Given the description of an element on the screen output the (x, y) to click on. 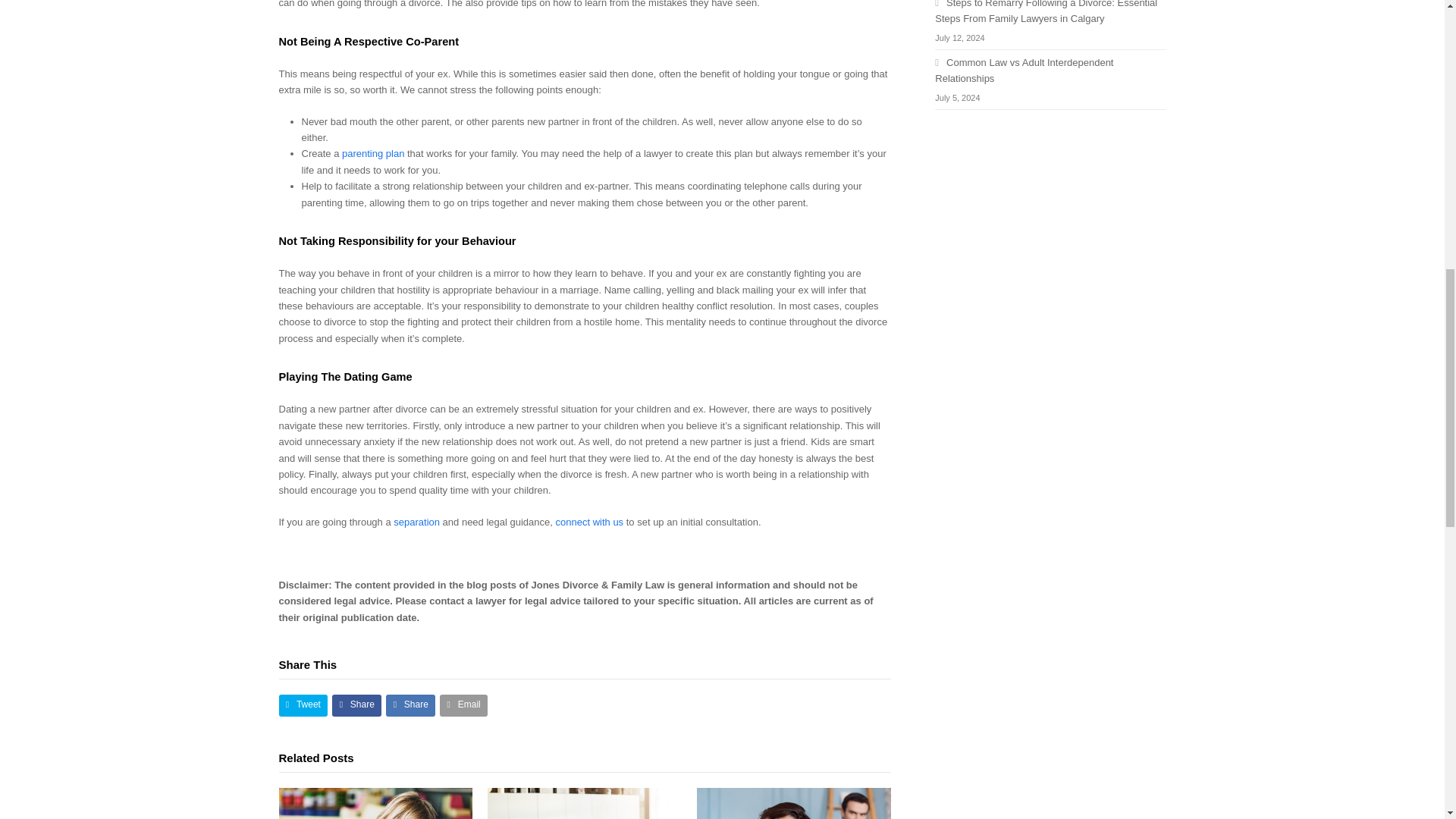
Back to School Tips for Single Parents (376, 803)
Common-Law Separation In Alberta: How It Works (794, 803)
